Given the description of an element on the screen output the (x, y) to click on. 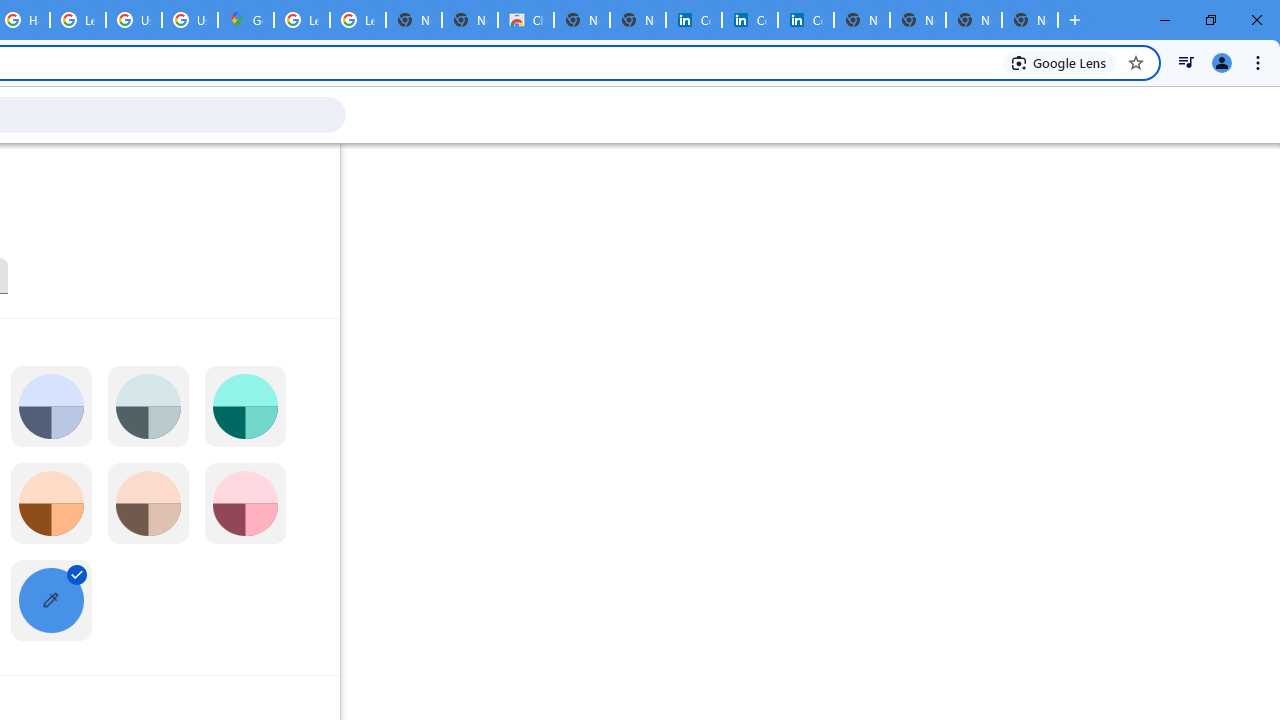
New Tab (1030, 20)
Cookie Policy | LinkedIn (749, 20)
Google Maps (245, 20)
Cookie Policy | LinkedIn (693, 20)
Chrome Web Store (525, 20)
